Given the description of an element on the screen output the (x, y) to click on. 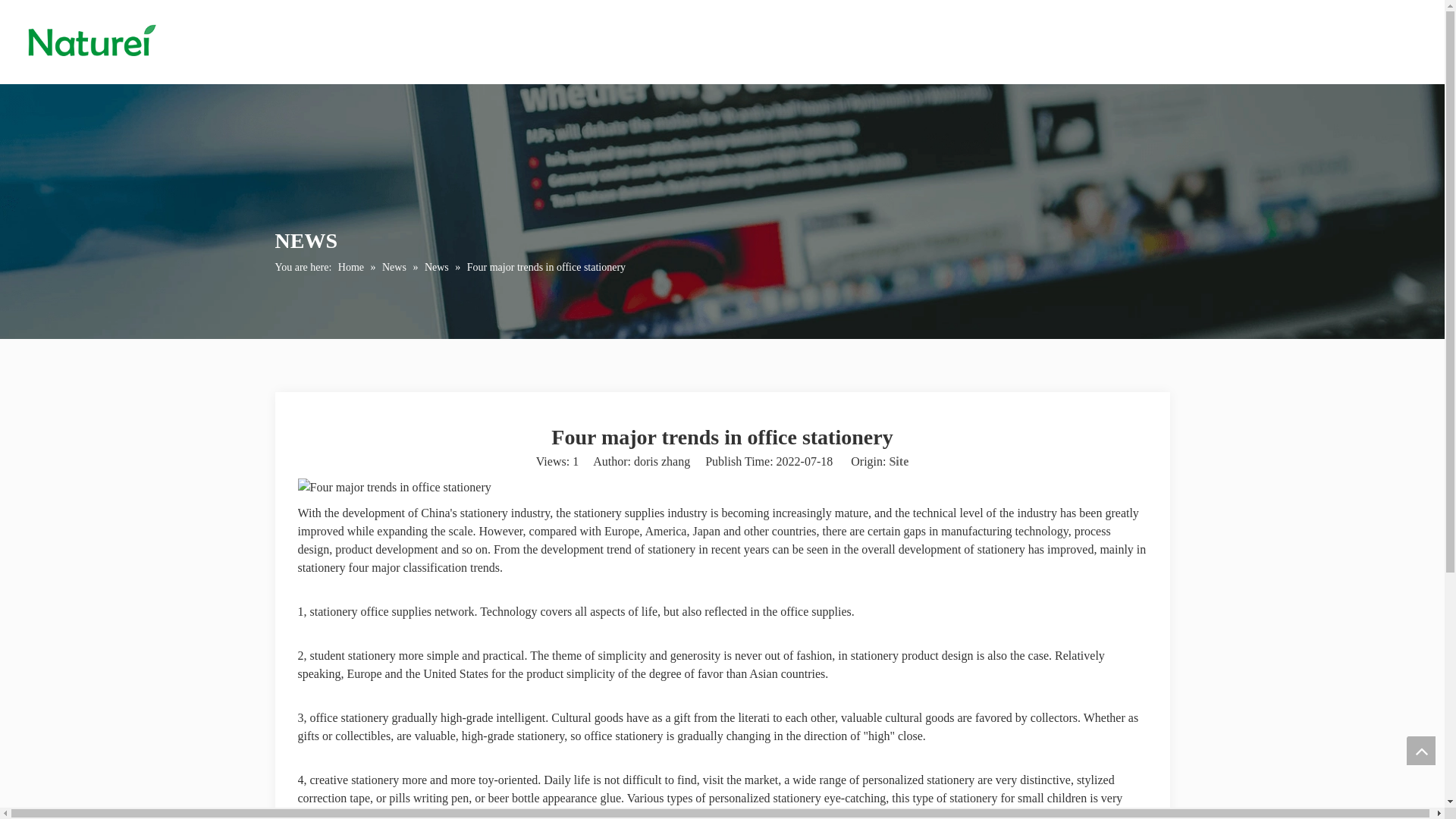
News (687, 41)
Contact Us (913, 41)
Home (351, 266)
Site (898, 461)
top (1420, 750)
Home (537, 41)
News (438, 266)
FAQ (835, 41)
Products (613, 41)
News (395, 266)
